Given the description of an element on the screen output the (x, y) to click on. 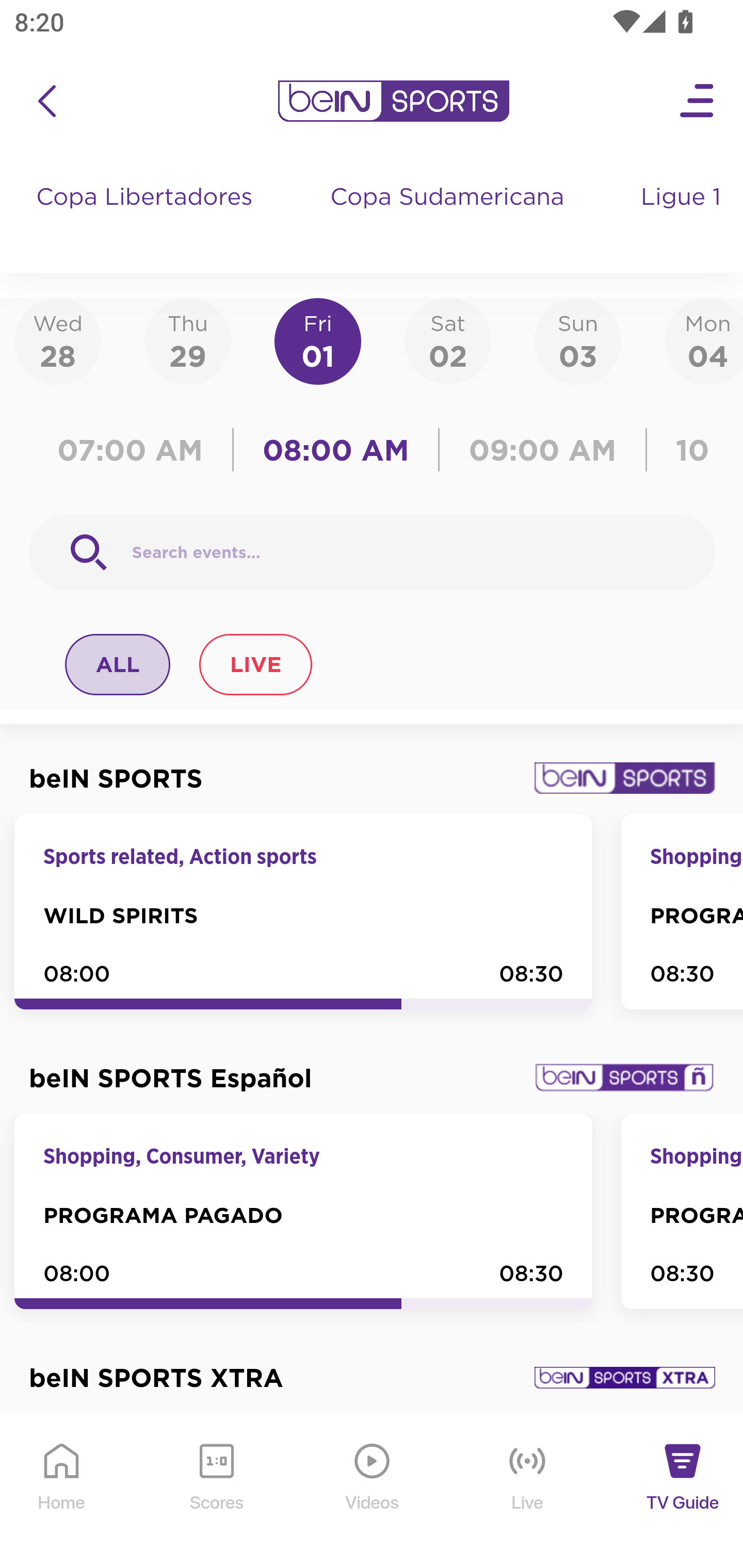
en-us?platform=mobile_android bein logo (392, 101)
icon back (46, 101)
Open Menu Icon (697, 101)
Copa Libertadores (146, 216)
Copa Sudamericana (448, 216)
Ligue 1 (682, 216)
Wed28 (58, 340)
Thu29 (187, 340)
Fri01 (318, 340)
Sat02 (447, 340)
Sun03 (578, 340)
Mon04 (703, 340)
07:00 AM (135, 449)
08:00 AM (336, 449)
09:00 AM (542, 449)
ALL (118, 663)
LIVE (255, 663)
Home Home Icon Home (61, 1491)
Scores Scores Icon Scores (216, 1491)
Videos Videos Icon Videos (372, 1491)
TV Guide TV Guide Icon TV Guide (682, 1491)
